Given the description of an element on the screen output the (x, y) to click on. 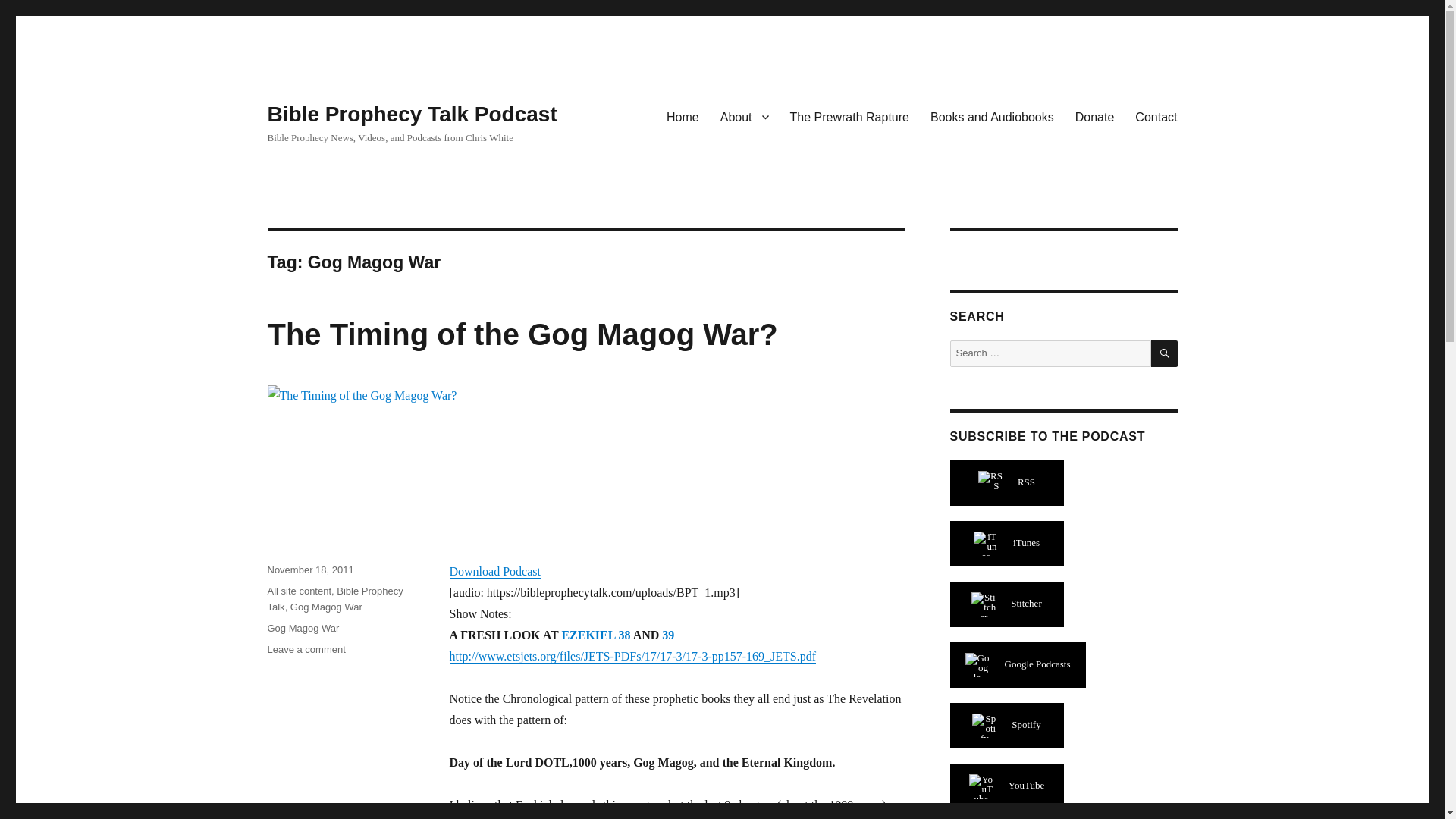
Books and Audiobooks (992, 116)
Contact (1156, 116)
Home (683, 116)
The Timing of the Gog Magog War? (521, 334)
The Prewrath Rapture (849, 116)
EZEKIEL 38 (595, 634)
Bible Prophecy Talk Podcast (411, 114)
Donate (1094, 116)
Download Podcast (494, 571)
About (744, 116)
39 (668, 634)
